Given the description of an element on the screen output the (x, y) to click on. 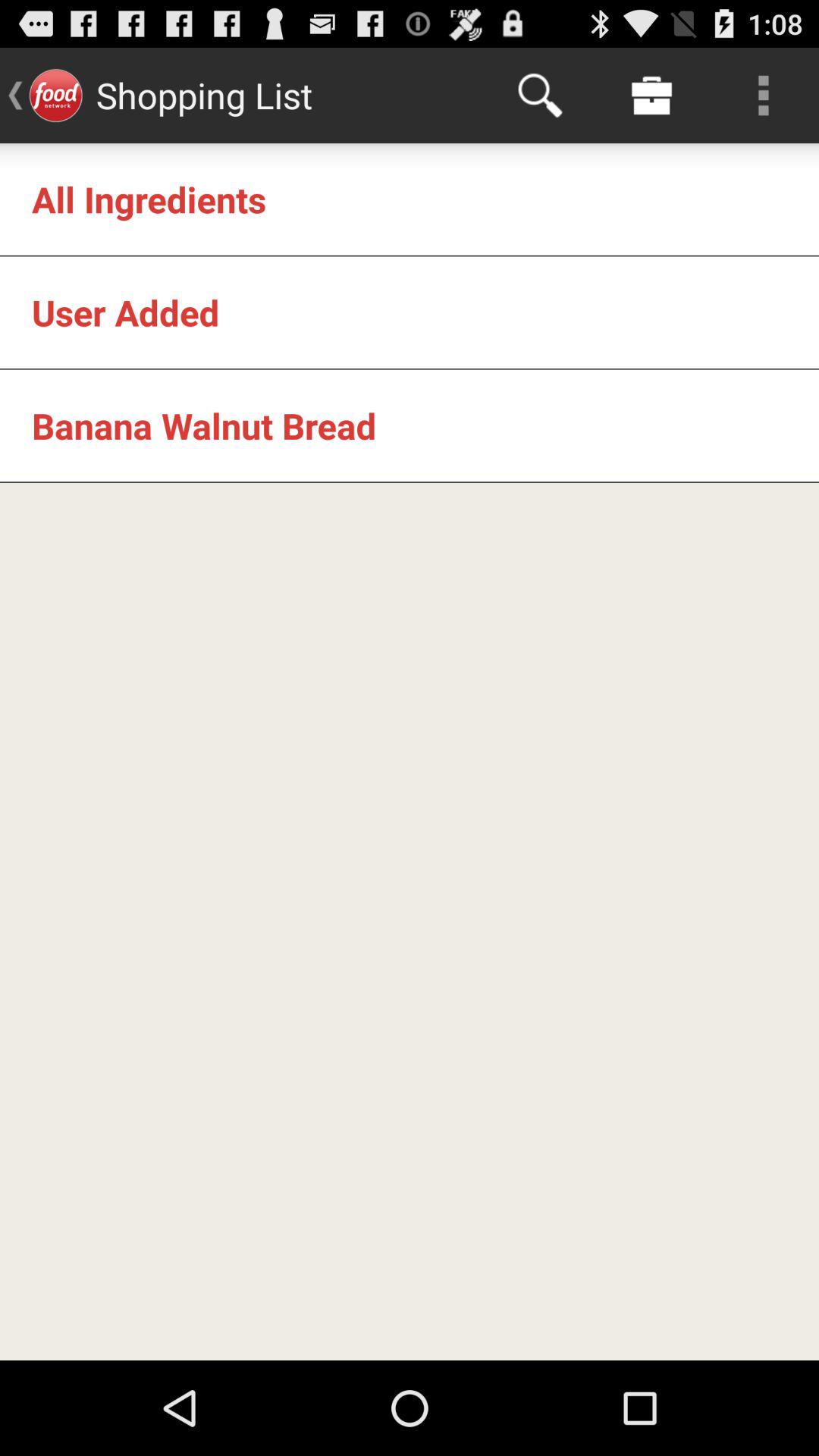
choose the item at the top (540, 95)
